Given the description of an element on the screen output the (x, y) to click on. 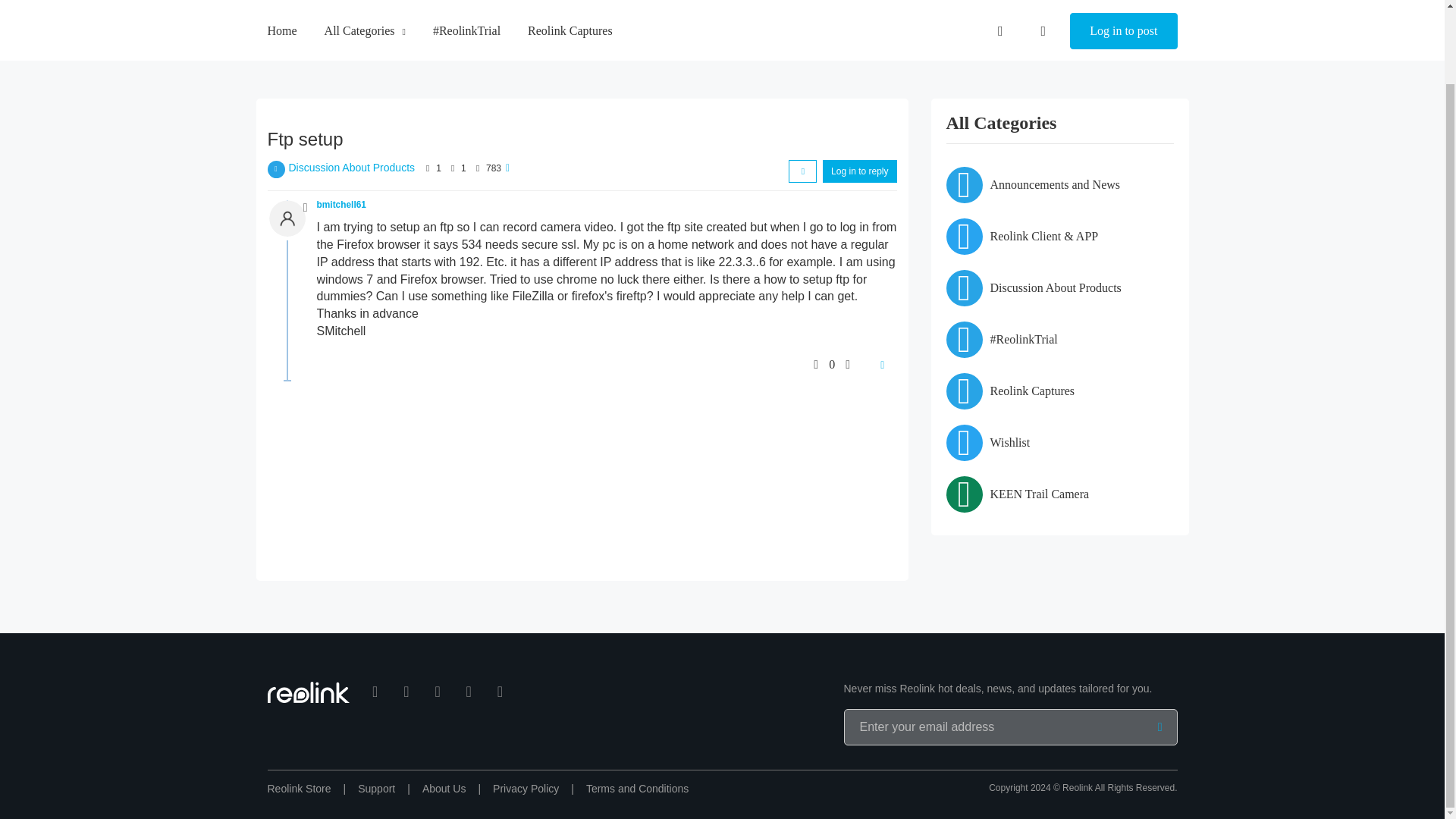
Log in to post (1123, 5)
Posters (427, 167)
Posts (452, 167)
783 (493, 167)
Sort by (802, 170)
Log in to reply (859, 170)
bmitchell61 (341, 204)
Discussion About Products (351, 167)
Views (477, 167)
